Given the description of an element on the screen output the (x, y) to click on. 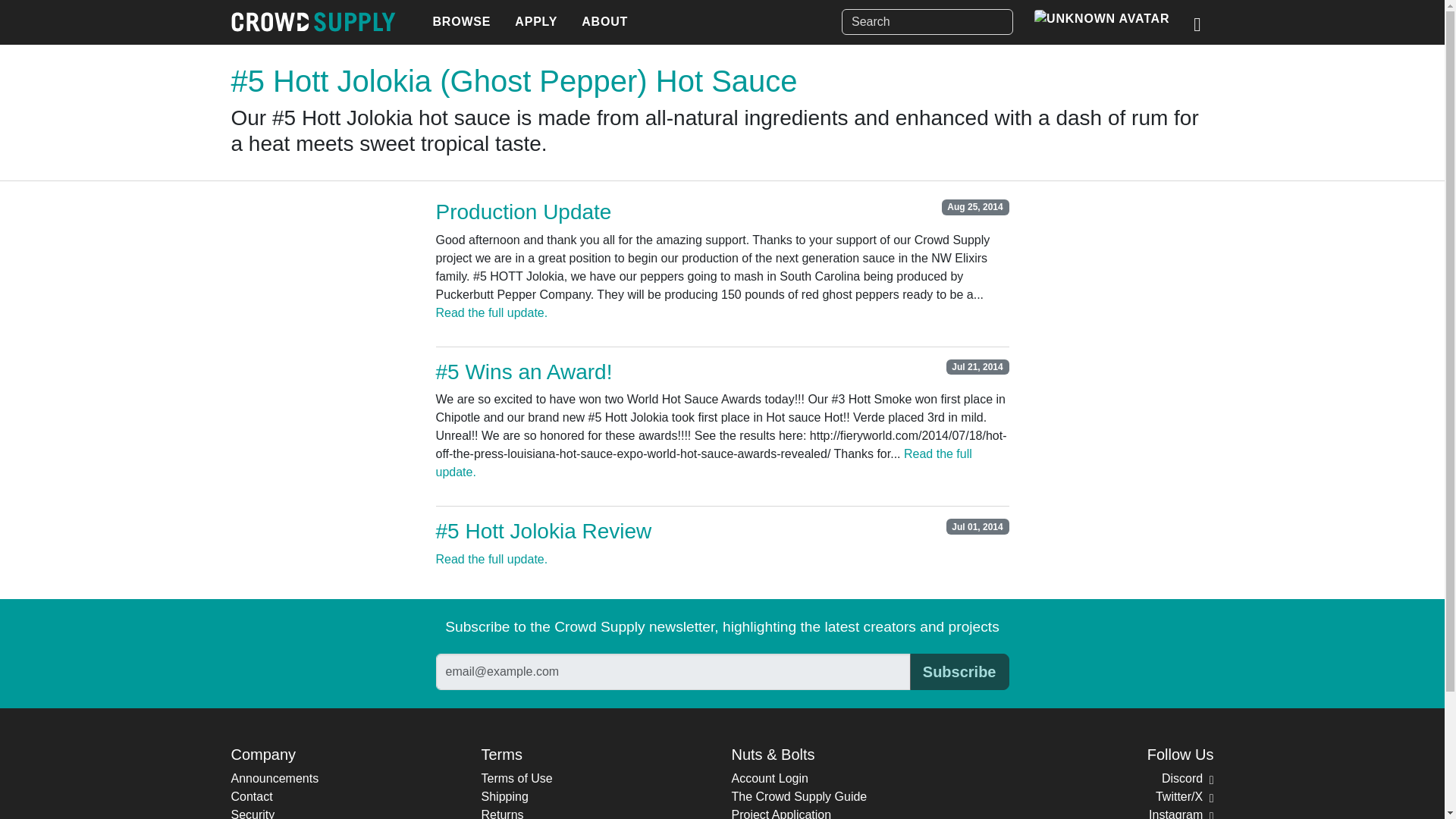
APPLY (535, 21)
Contact (251, 796)
Security (252, 813)
Instagram (1180, 813)
Project Application (780, 813)
Shipping (503, 796)
Returns (501, 813)
Subscribe (959, 671)
Discord (1187, 778)
BROWSE (461, 21)
Terms of Use (515, 778)
Read the full update. (491, 312)
Announcements (274, 778)
Read the full update. (703, 462)
Read the full update. (491, 558)
